Given the description of an element on the screen output the (x, y) to click on. 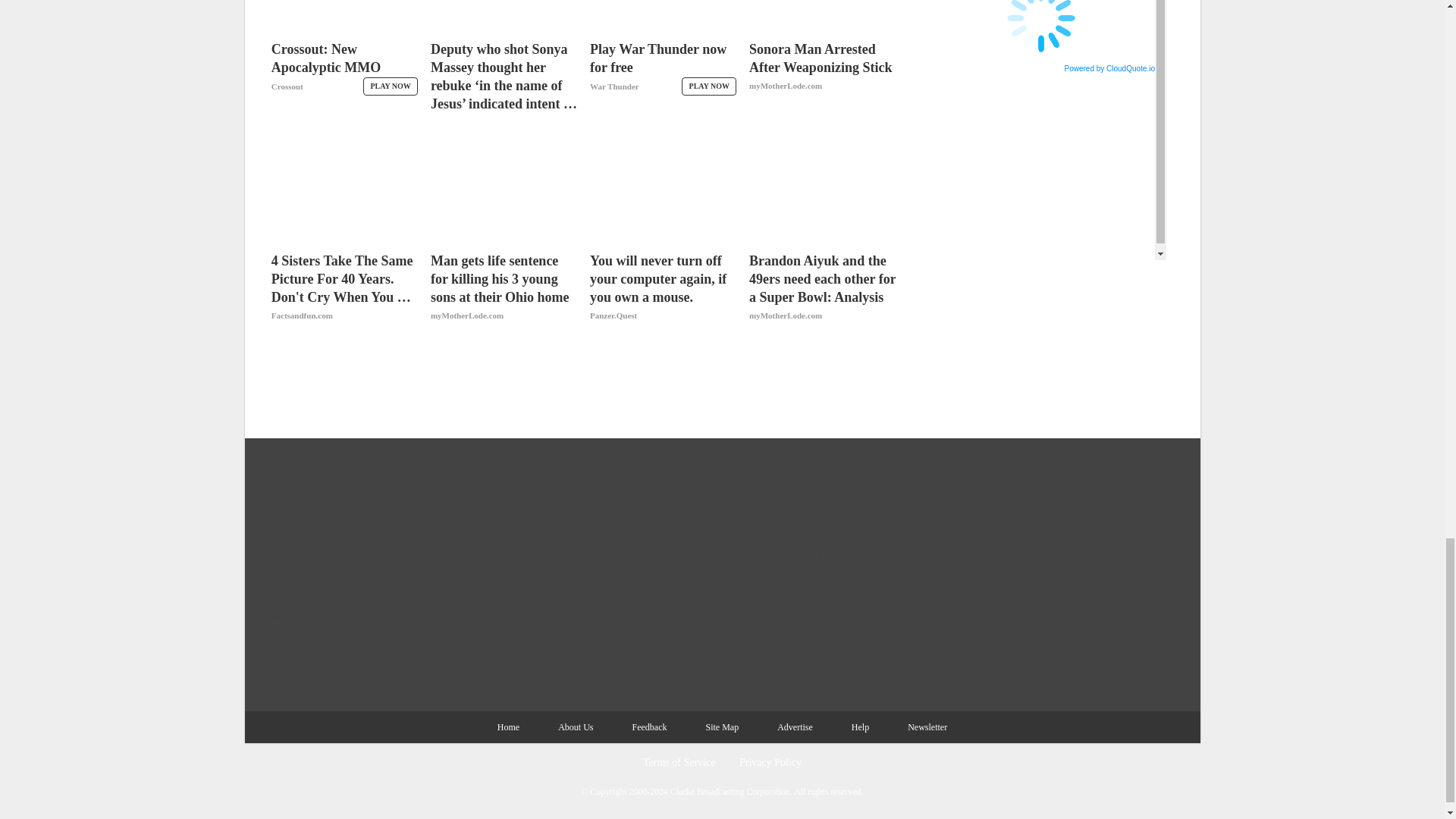
Crossout: New Apocalyptic MMO (343, 76)
Play War Thunder now for free (662, 76)
Sonora Man Arrested After Weaponizing Stick (822, 76)
